Given the description of an element on the screen output the (x, y) to click on. 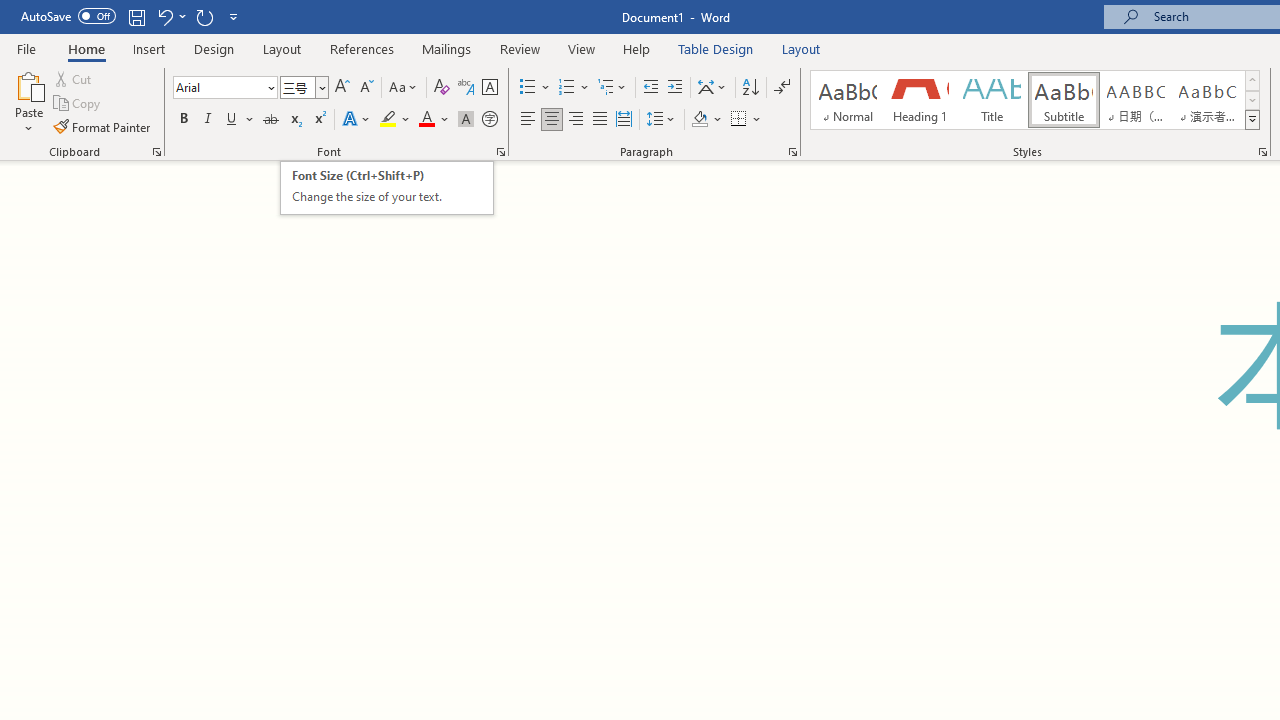
Title (387, 188)
